Given the description of an element on the screen output the (x, y) to click on. 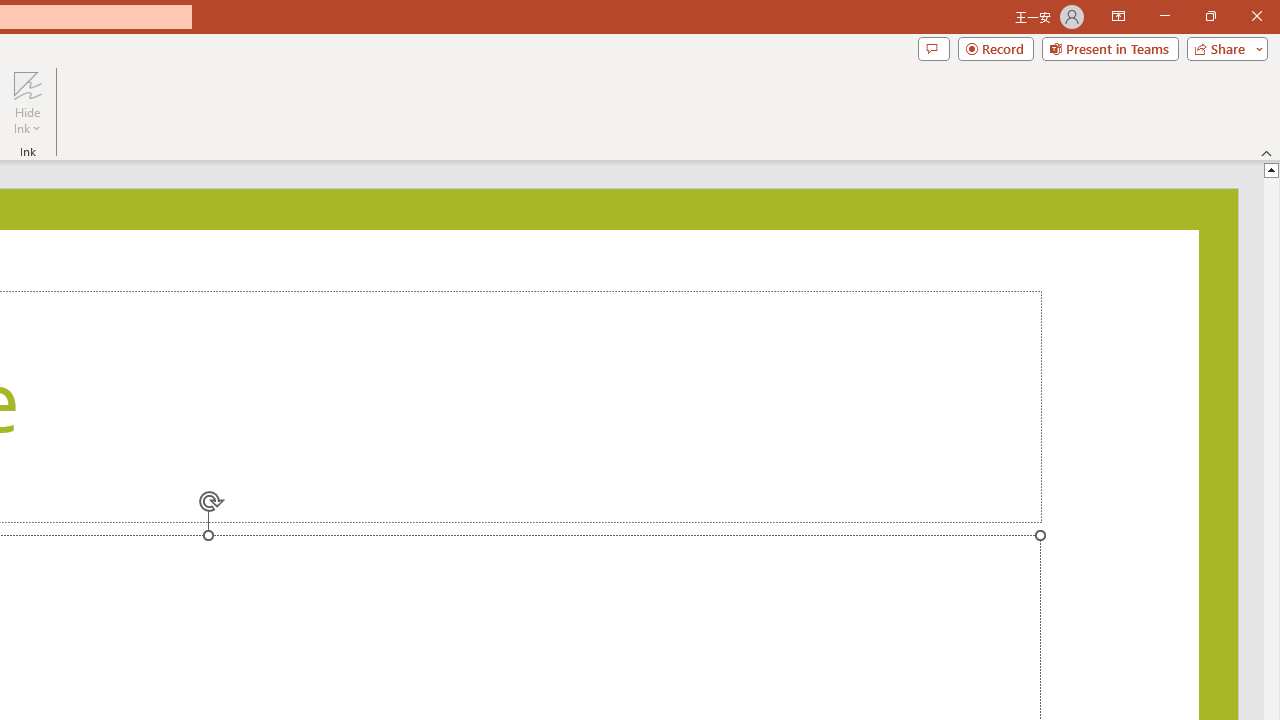
Hide Ink (27, 84)
Present in Teams (1109, 48)
Record (995, 48)
Minimize (1164, 16)
Restore Down (1210, 16)
Share (1223, 48)
Close (1256, 16)
Comments (933, 48)
Hide Ink (27, 102)
Collapse the Ribbon (1267, 152)
More Options (27, 121)
Ribbon Display Options (1118, 16)
